Given the description of an element on the screen output the (x, y) to click on. 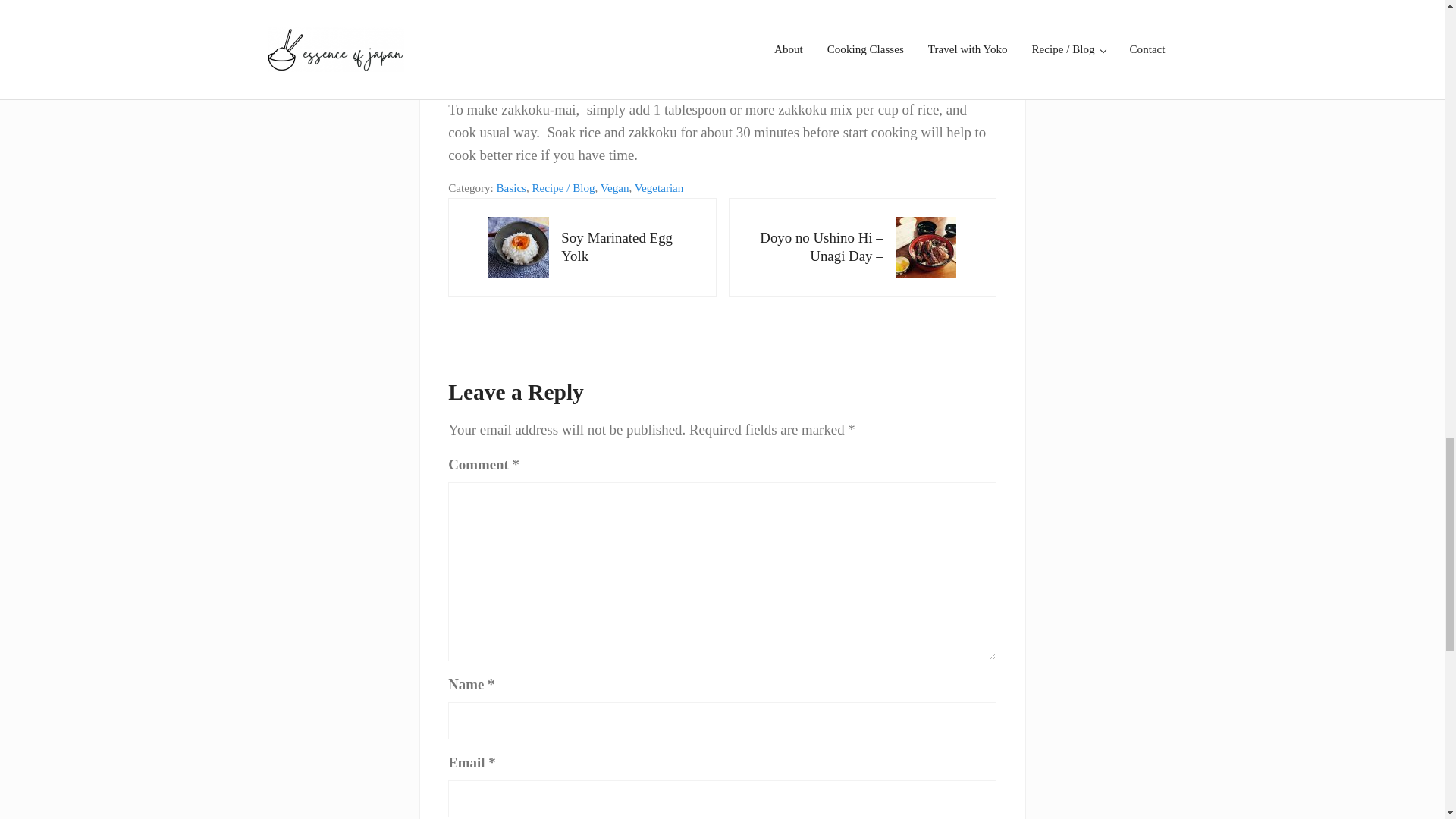
Basics (510, 187)
Vegetarian (659, 187)
Vegan (582, 247)
